Given the description of an element on the screen output the (x, y) to click on. 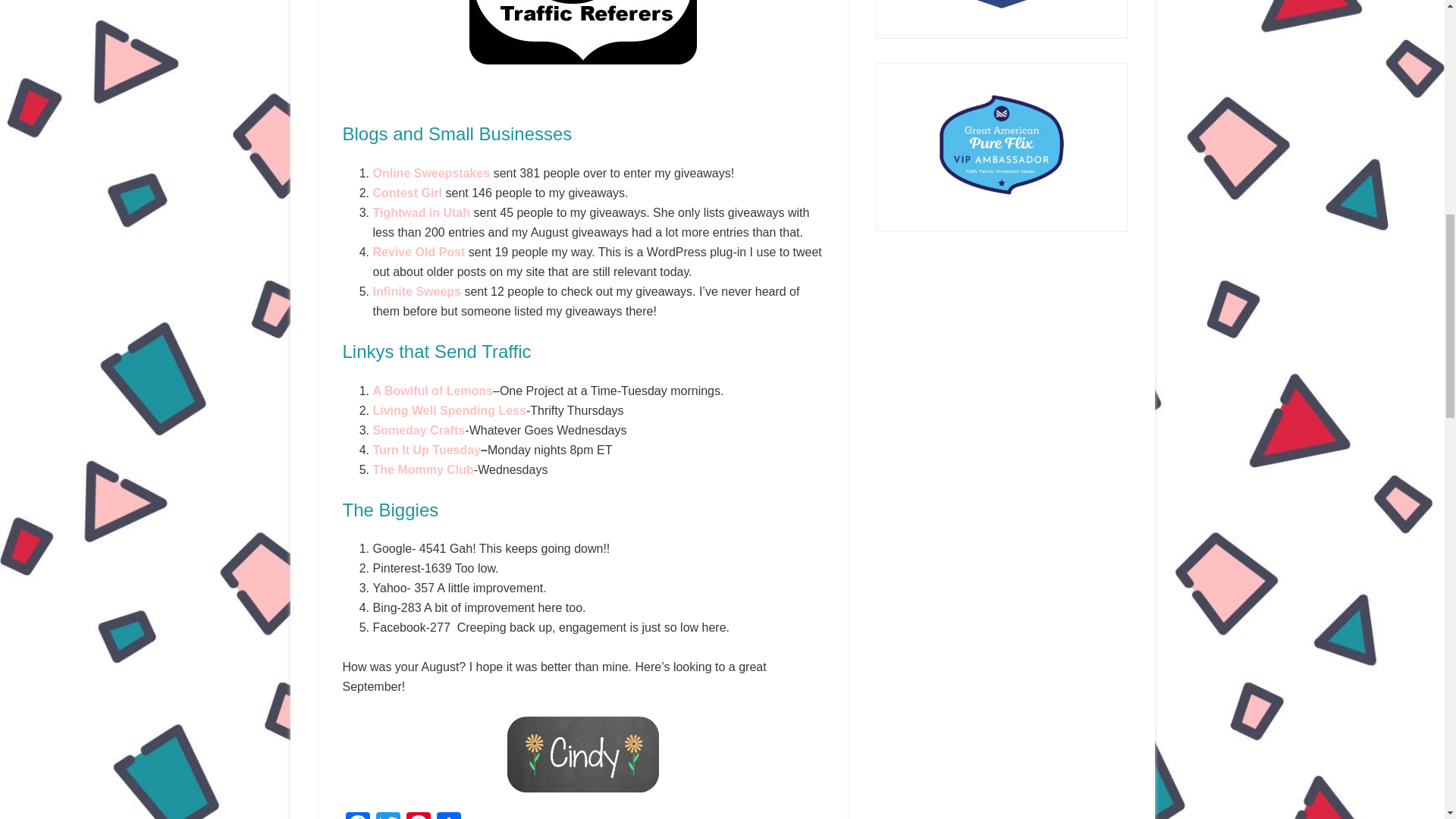
Contest Girl (408, 192)
Twitter (387, 815)
Online Sweepstakes (431, 173)
Pinterest (418, 815)
Facebook (357, 815)
Tightwad in Utah (421, 212)
